Given the description of an element on the screen output the (x, y) to click on. 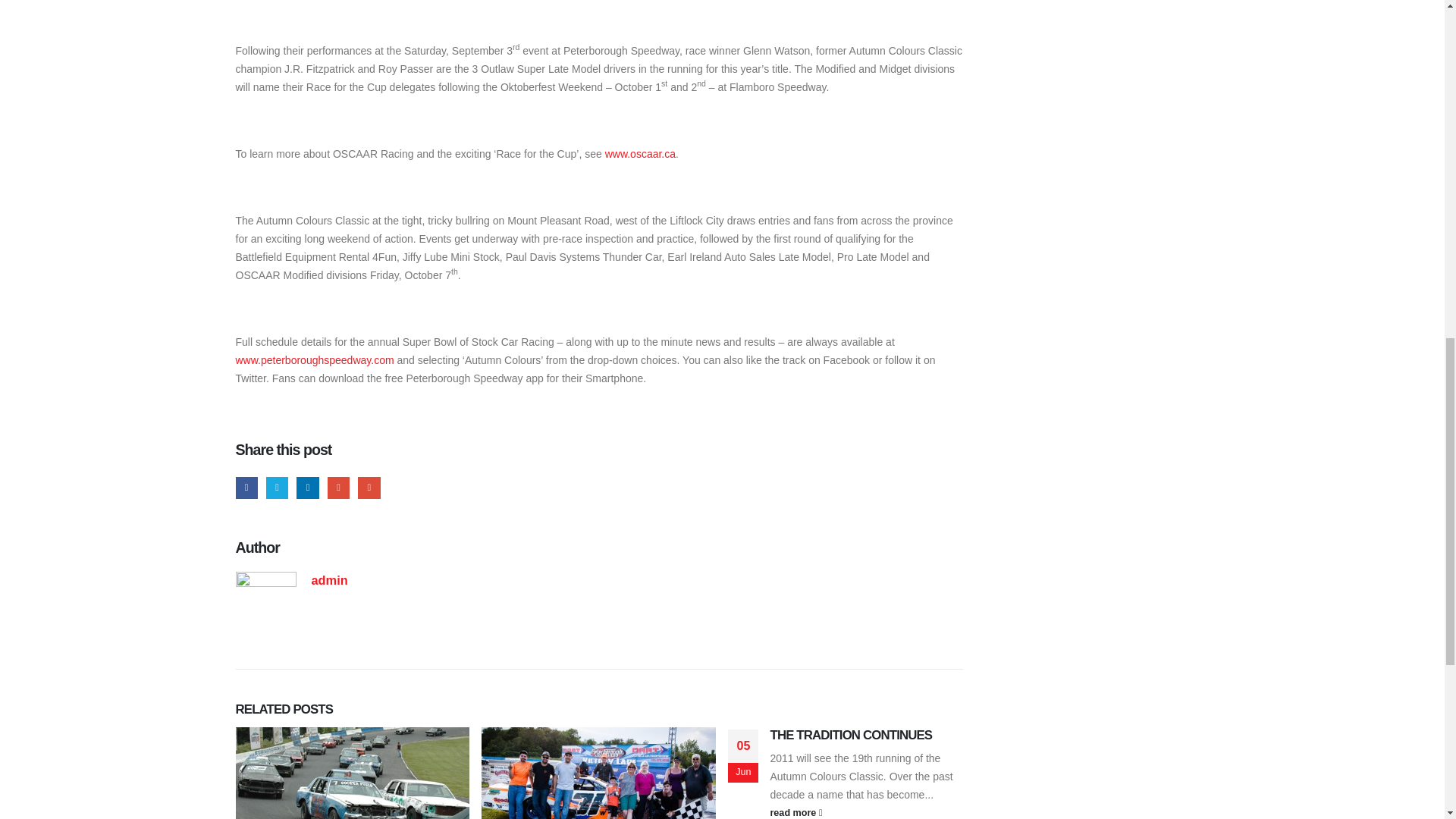
Twitter (277, 487)
Email (369, 487)
Facebook (245, 487)
LinkedIn (307, 487)
Posts by admin (329, 580)
